Given the description of an element on the screen output the (x, y) to click on. 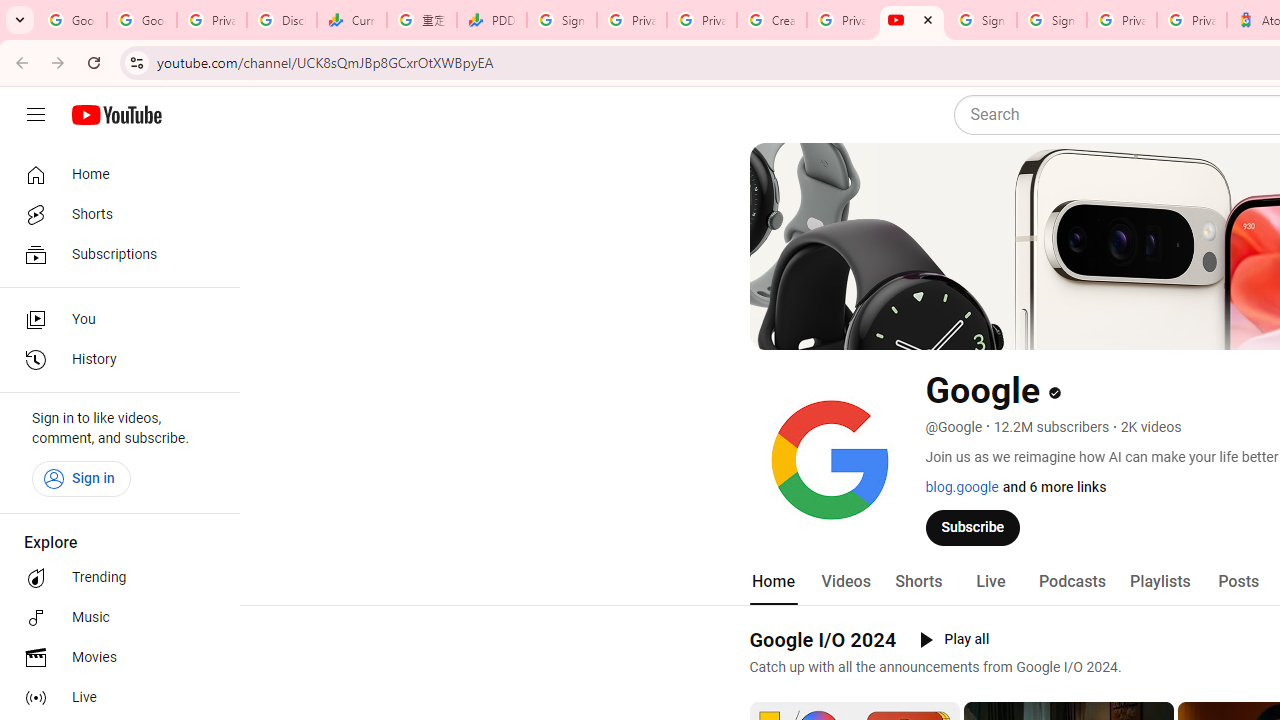
Music (113, 617)
Playlists (1160, 581)
and 6 more links (1054, 487)
Shorts (113, 214)
Google - YouTube (911, 20)
PDD Holdings Inc - ADR (PDD) Price & News - Google Finance (492, 20)
Subscriptions (113, 254)
Google I/O 2024 (822, 639)
Shorts (918, 581)
Movies (113, 657)
